Given the description of an element on the screen output the (x, y) to click on. 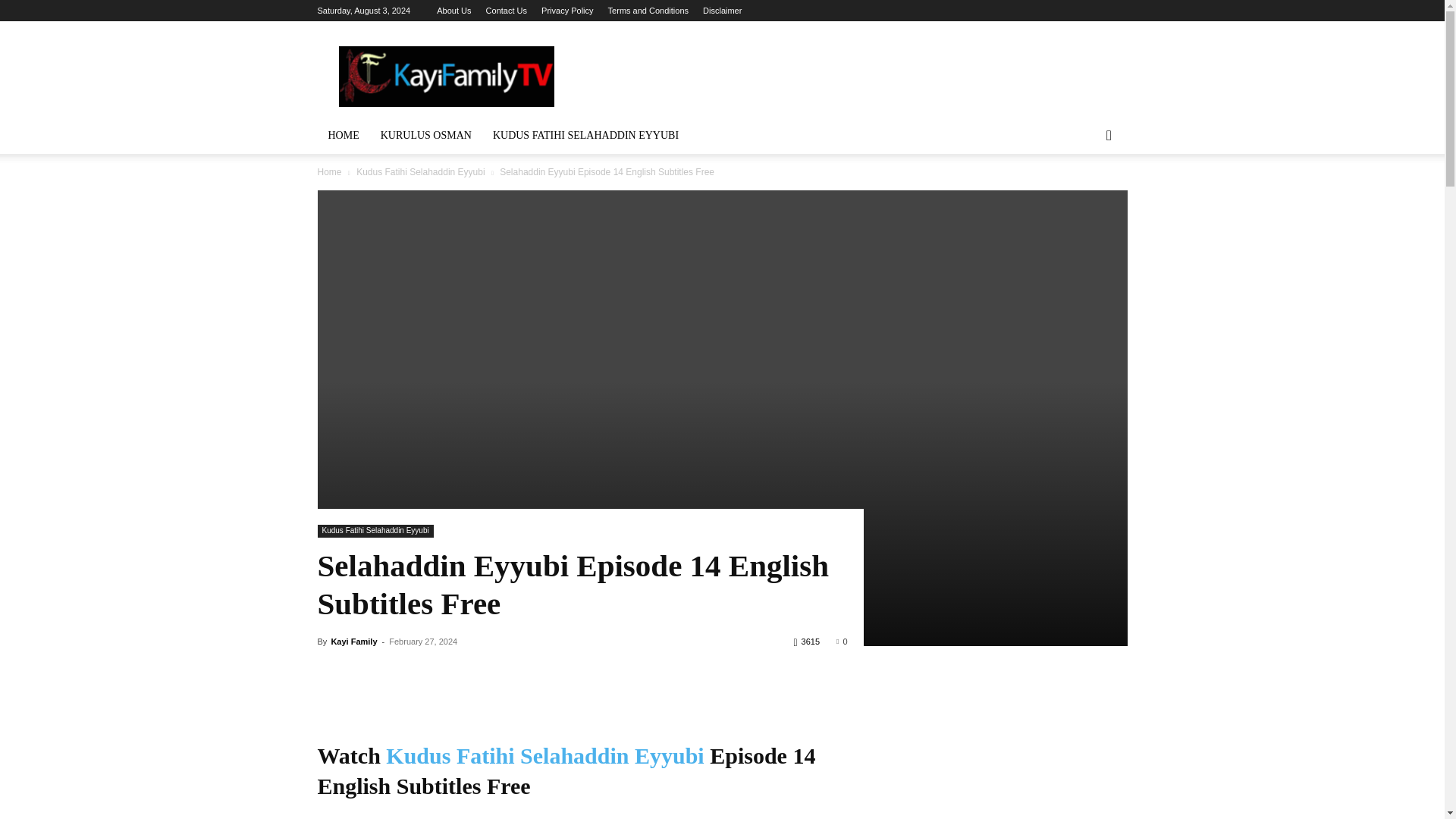
Kudus Fatihi Selahaddin Eyyubi (544, 755)
Disclaimer (722, 10)
Kudus Fatihi Selahaddin Eyyubi (374, 530)
Kayi Family (445, 76)
View all posts in Kudus Fatihi Selahaddin Eyyubi (420, 172)
Home (328, 172)
KURULUS OSMAN (425, 135)
HOME (343, 135)
About Us (453, 10)
Kayi Family (353, 641)
KUDUS FATIHI SELAHADDIN EYYUBI (584, 135)
Kudus Fatihi Selahaddin Eyyubi (420, 172)
Search (1085, 196)
Privacy Policy (566, 10)
0 (841, 641)
